Given the description of an element on the screen output the (x, y) to click on. 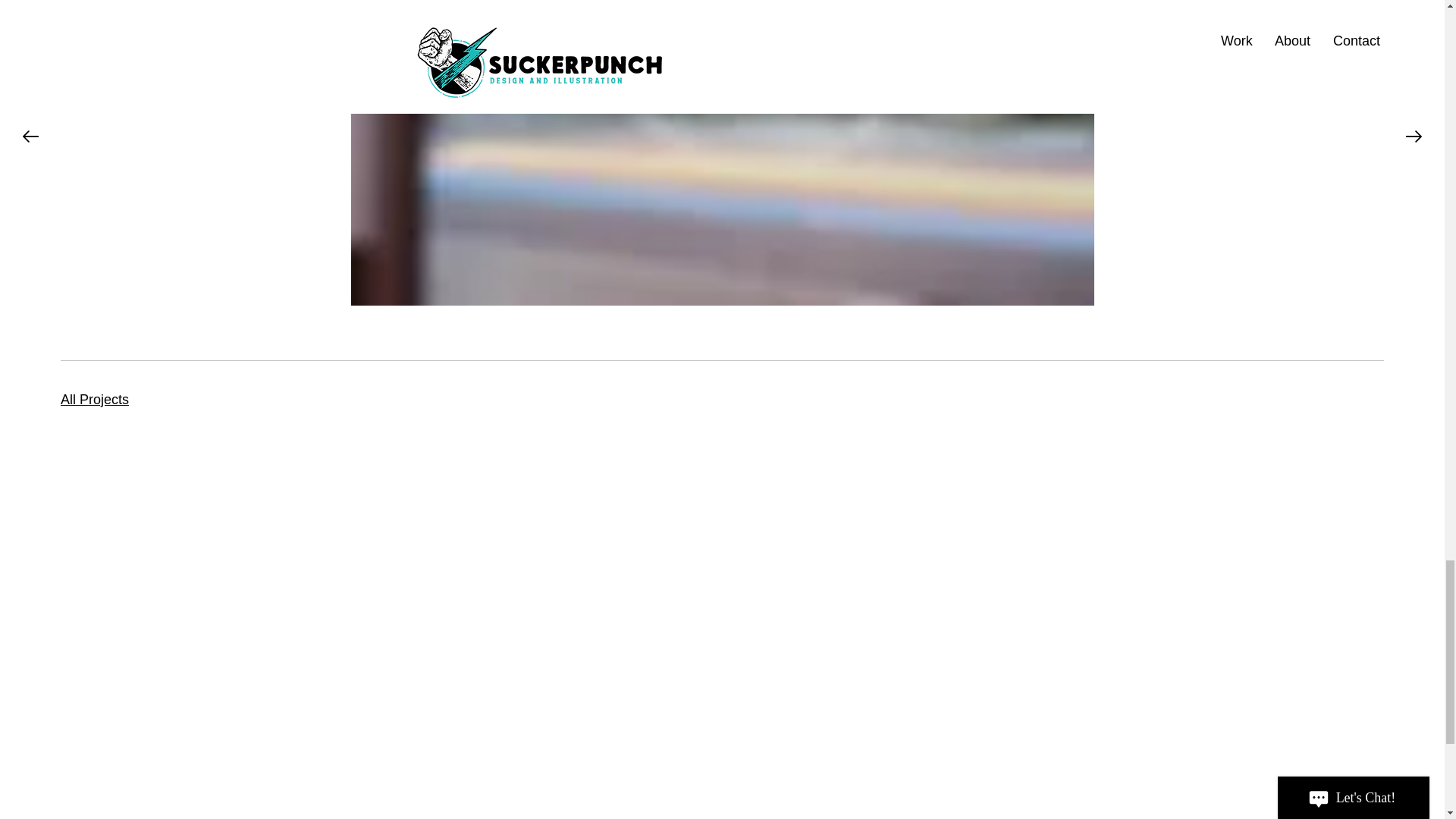
All Projects (95, 399)
